Given the description of an element on the screen output the (x, y) to click on. 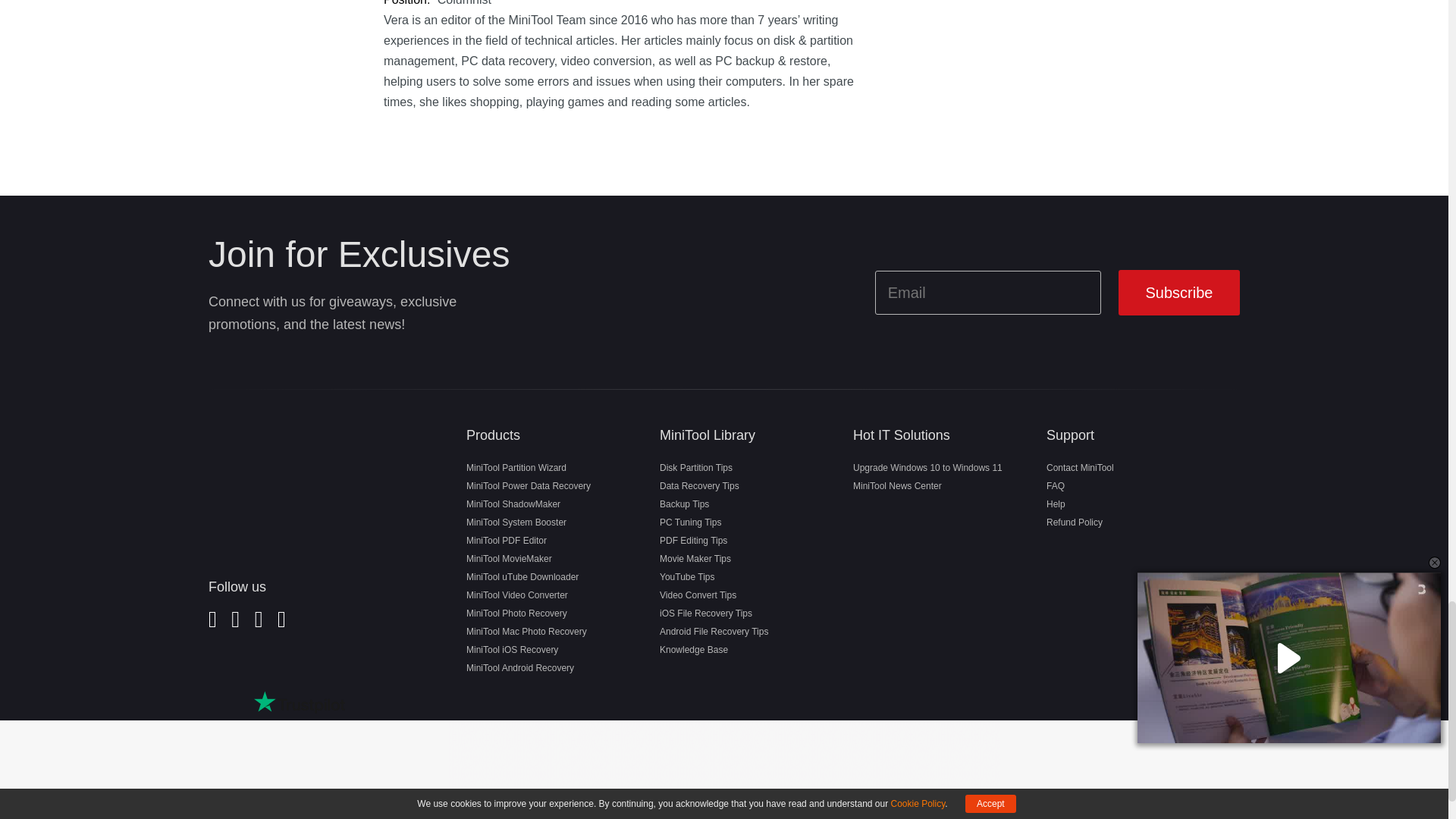
Subscribe (1179, 292)
Customer reviews powered by Trustpilot (299, 702)
